Given the description of an element on the screen output the (x, y) to click on. 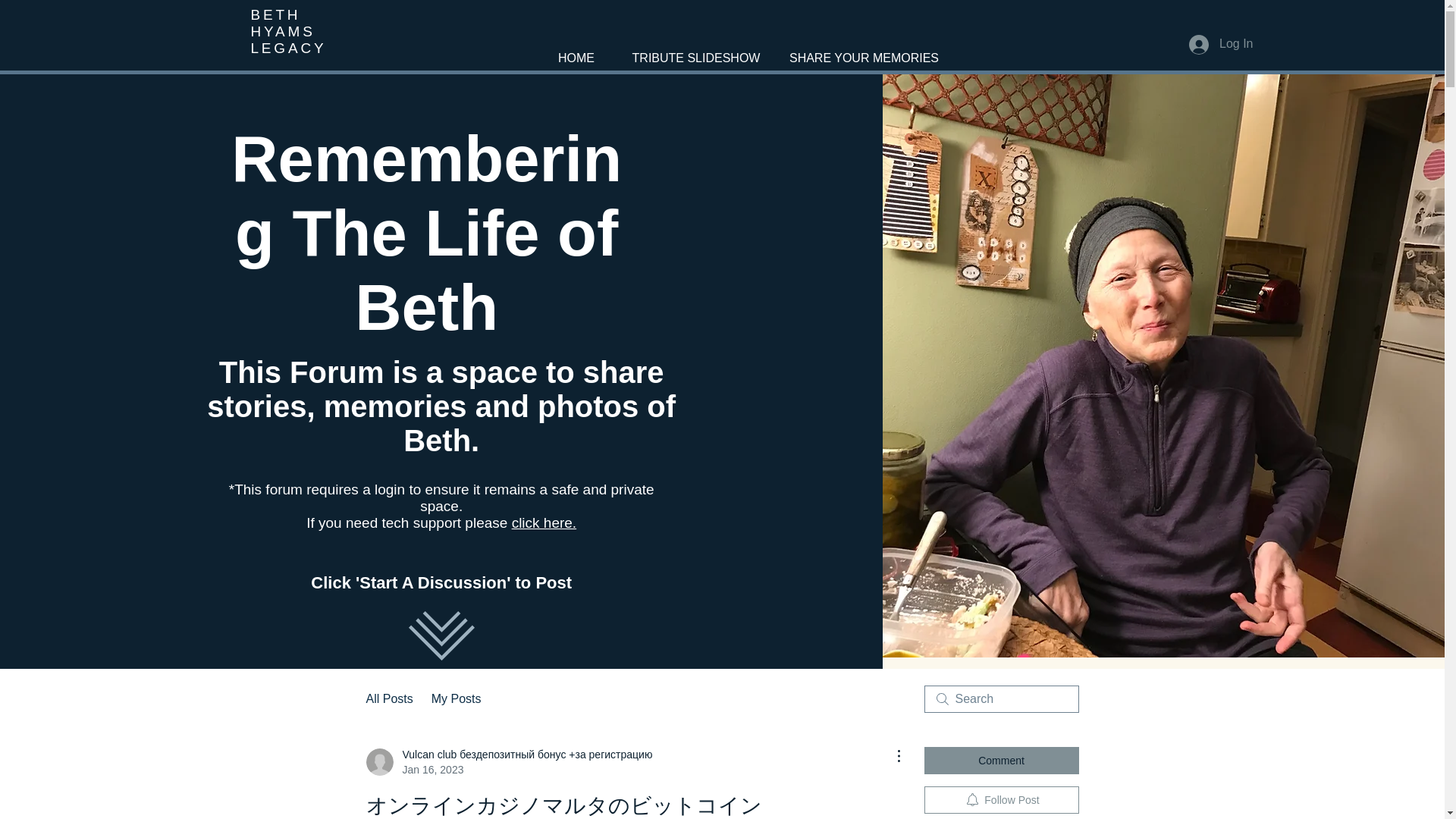
click here. (544, 522)
HOME (576, 51)
Follow Post (1000, 800)
TRIBUTE SLIDESHOW (695, 51)
My Posts (455, 699)
All Posts (388, 699)
Log In (1220, 44)
SHARE YOUR MEMORIES (863, 51)
Comment (1000, 759)
